Given the description of an element on the screen output the (x, y) to click on. 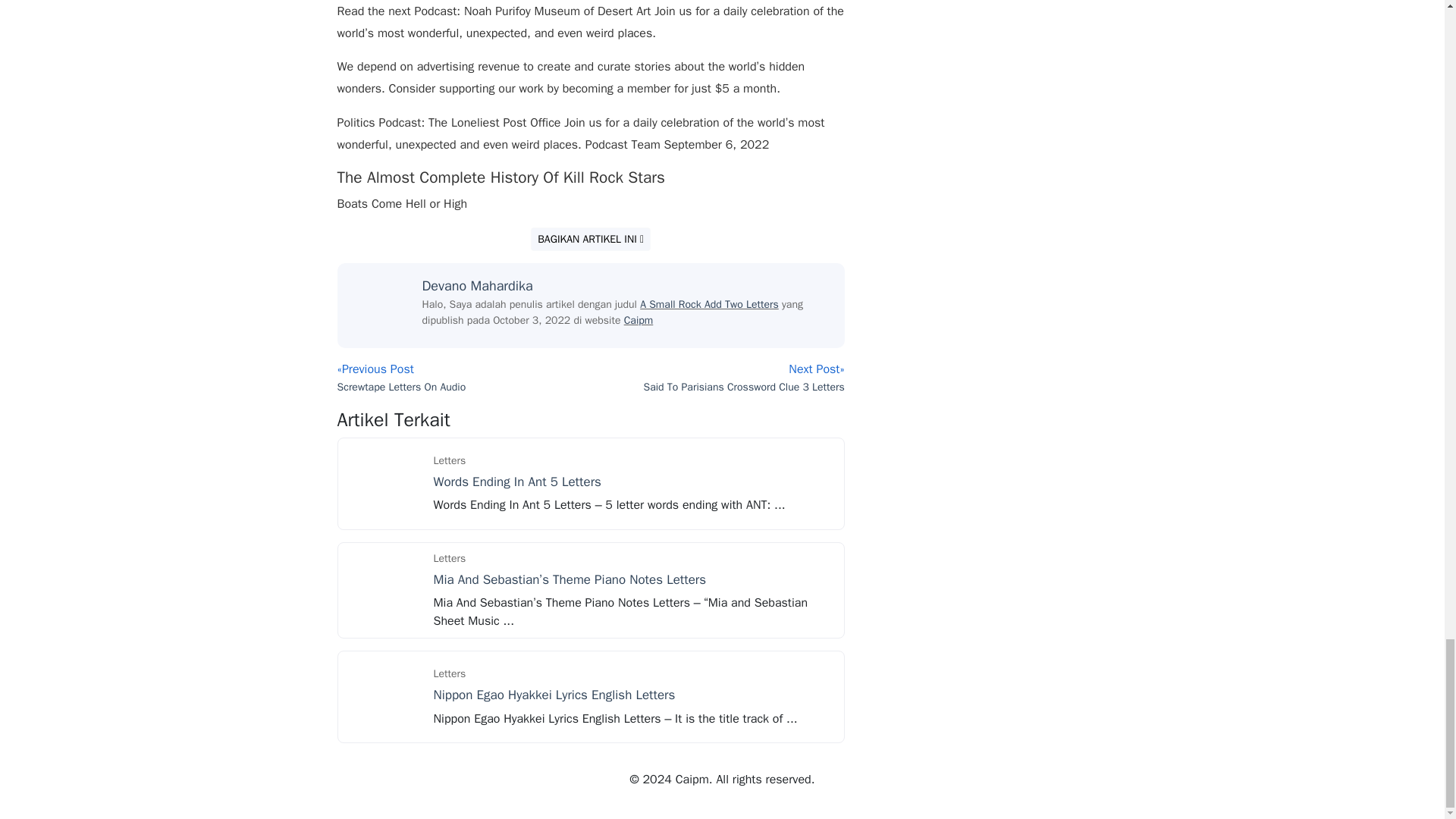
Caipm (638, 319)
Nippon Egao Hyakkei Lyrics English Letters (384, 695)
Letters (449, 673)
BAGIKAN ARTIKEL INI (590, 238)
A Small Rock Add Two Letters (709, 304)
Words Ending In Ant 5 Letters (384, 482)
Letters (449, 460)
Devano Mahardika (477, 285)
Caipm (638, 319)
Nippon Egao Hyakkei Lyrics English Letters (554, 694)
Letters (449, 558)
A Small Rock Add Two Letters (709, 304)
Words Ending In Ant 5 Letters (517, 481)
